Given the description of an element on the screen output the (x, y) to click on. 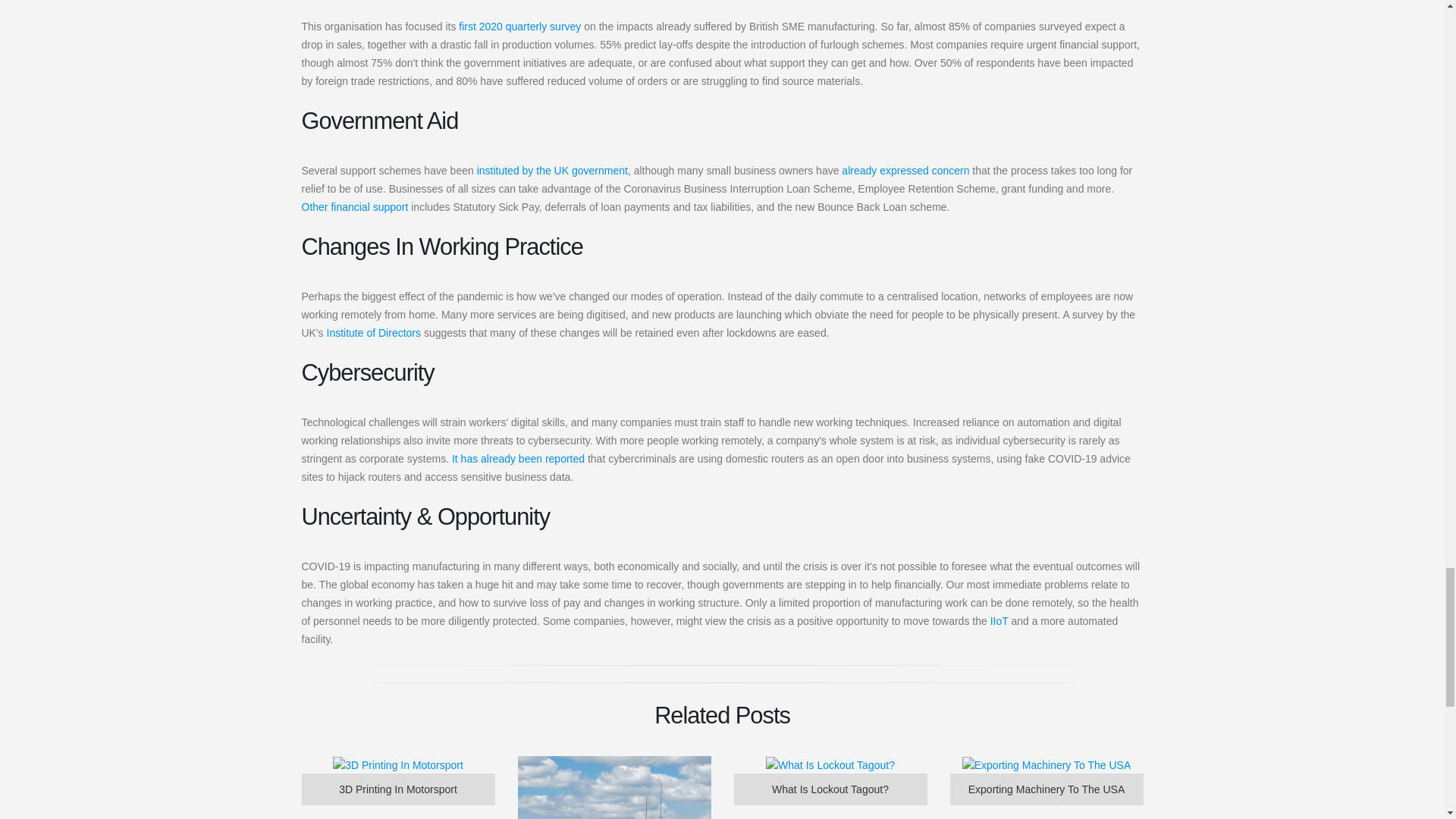
Small Business Owners Express Concern Over Support Schemes (905, 170)
2020 Q1 South West manufacturing Advisory Service Survey (519, 26)
UK Government Support Schemes For Businesses (552, 170)
